Given the description of an element on the screen output the (x, y) to click on. 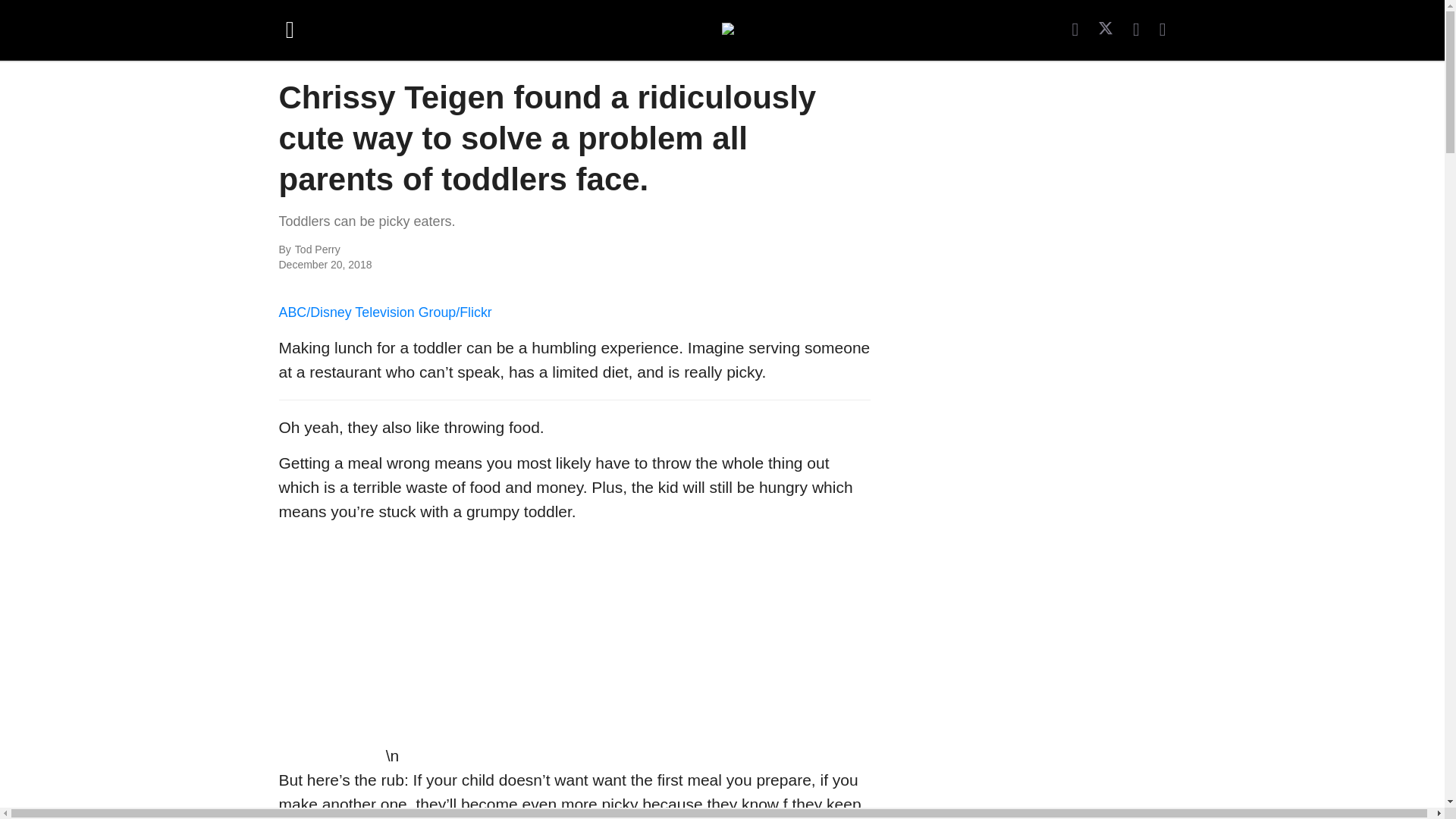
Tod Perry (459, 249)
